Given the description of an element on the screen output the (x, y) to click on. 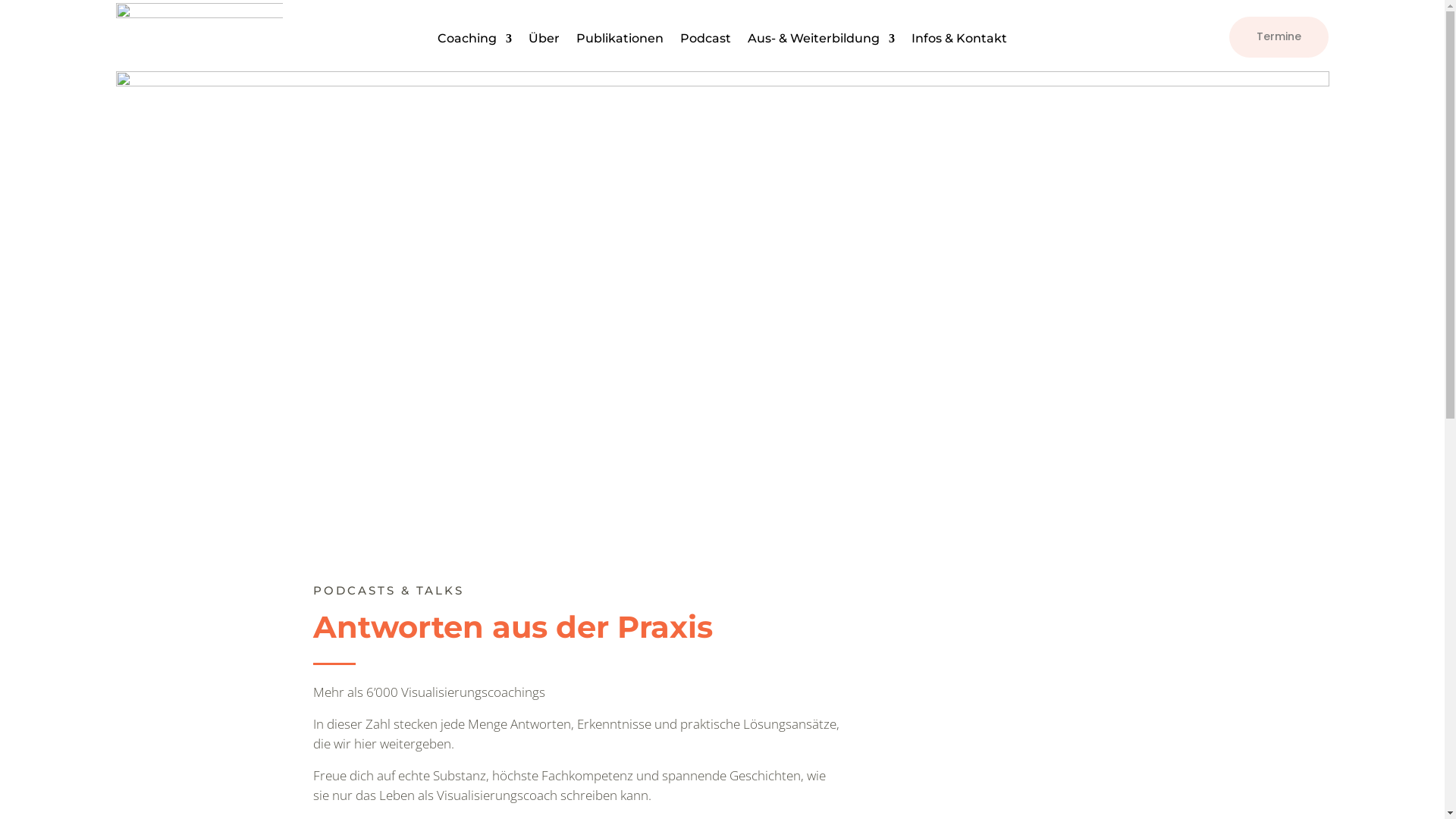
Aus- & Weiterbildung Element type: text (820, 41)
Termine Element type: text (1278, 36)
Antworten aus der Praxis Podcast Element type: hover (721, 298)
Infos & Kontakt Element type: text (959, 41)
Podcast Element type: text (705, 41)
Coaching Element type: text (474, 41)
Publikationen Element type: text (619, 41)
